Given the description of an element on the screen output the (x, y) to click on. 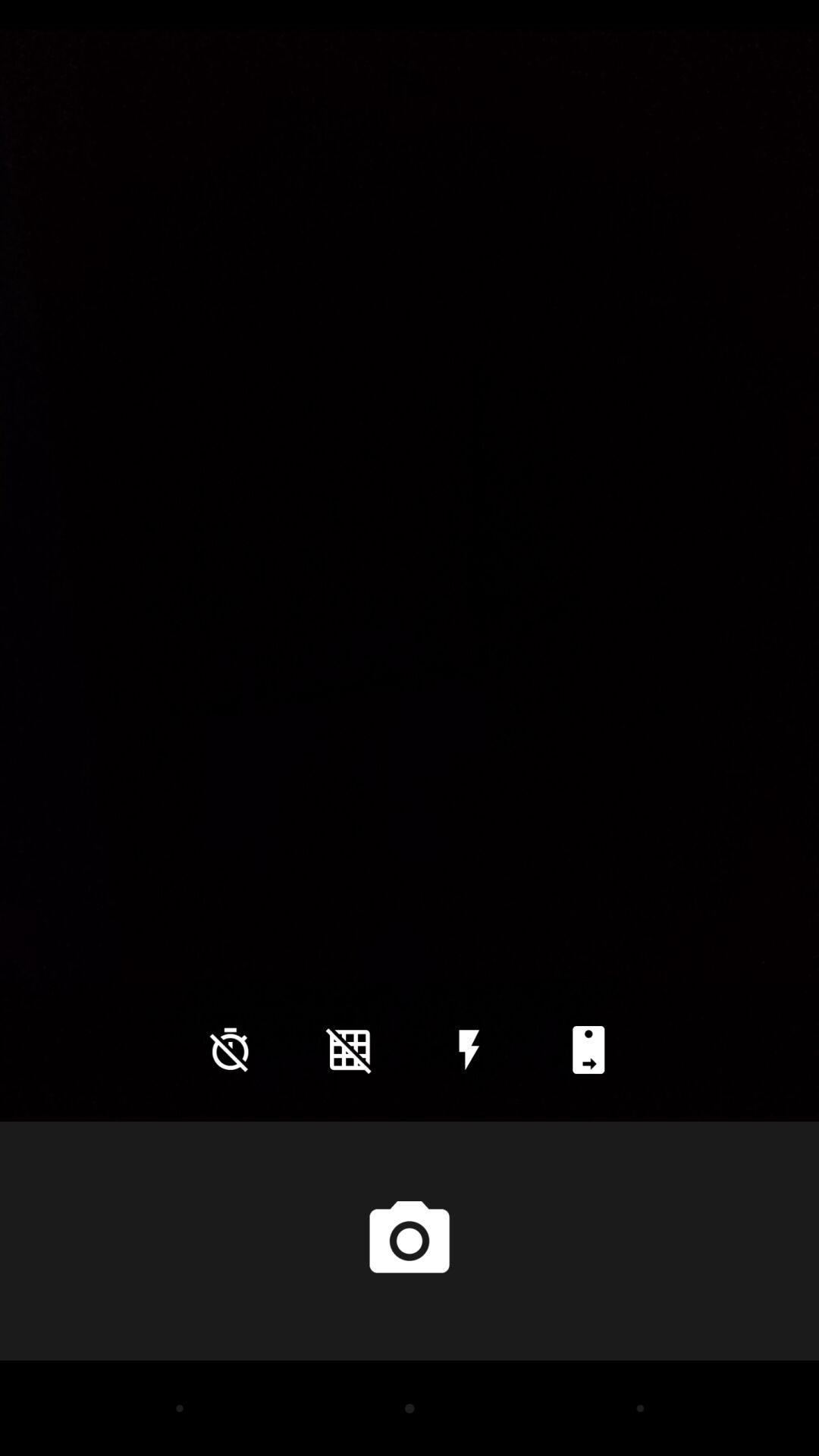
click the item at the bottom left corner (230, 1049)
